Given the description of an element on the screen output the (x, y) to click on. 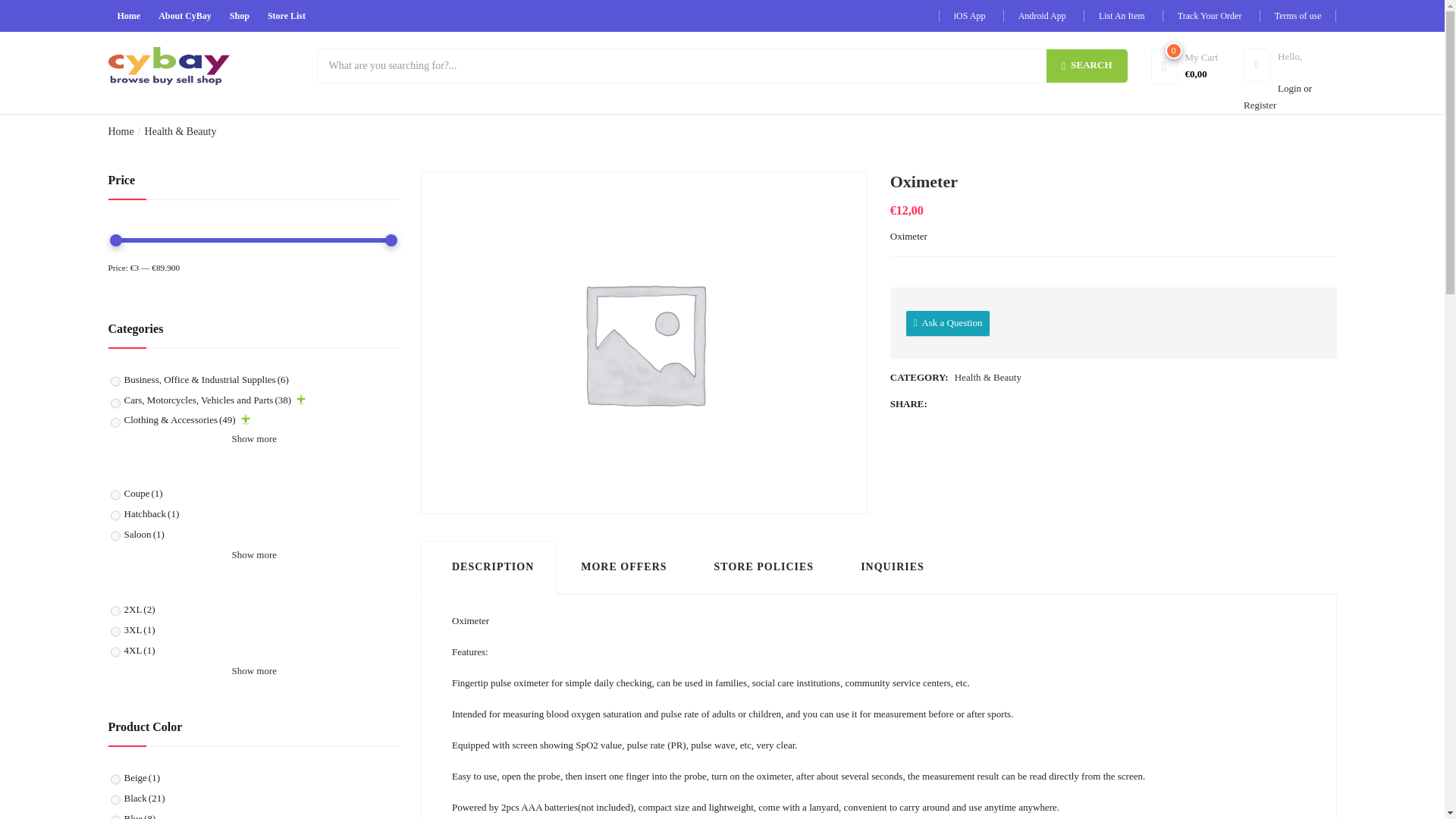
View your shopping cart (1195, 64)
420 (115, 816)
